Given the description of an element on the screen output the (x, y) to click on. 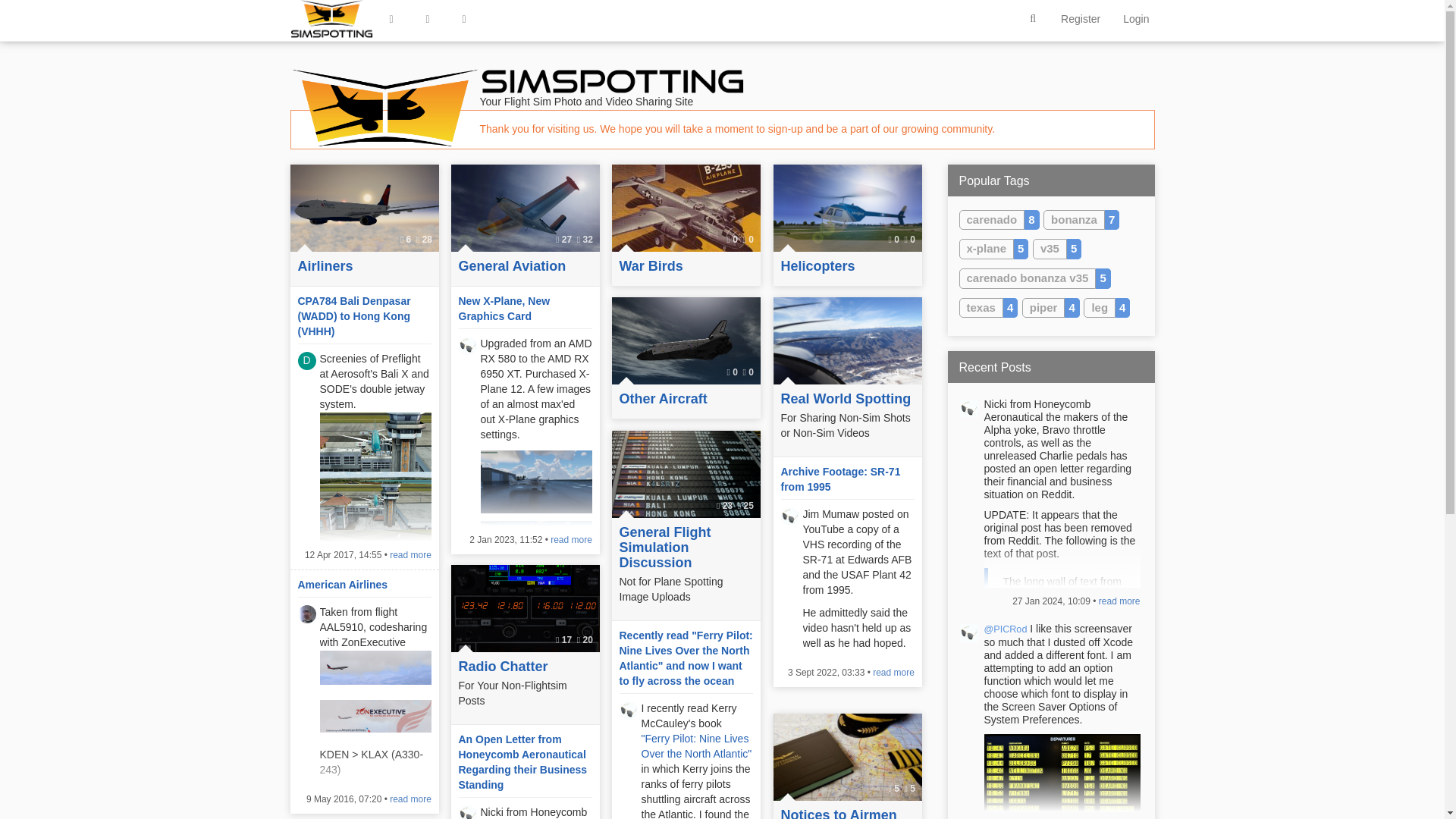
27  32 (523, 207)
32 (587, 239)
27 (567, 239)
4  4 (847, 340)
Helicopters (847, 266)
Airliners (363, 266)
Archive Footage: SR-71 from 1995 (840, 479)
Register (1080, 18)
9 May 2016, 07:20 (343, 798)
Real World Spotting (847, 399)
